Given the description of an element on the screen output the (x, y) to click on. 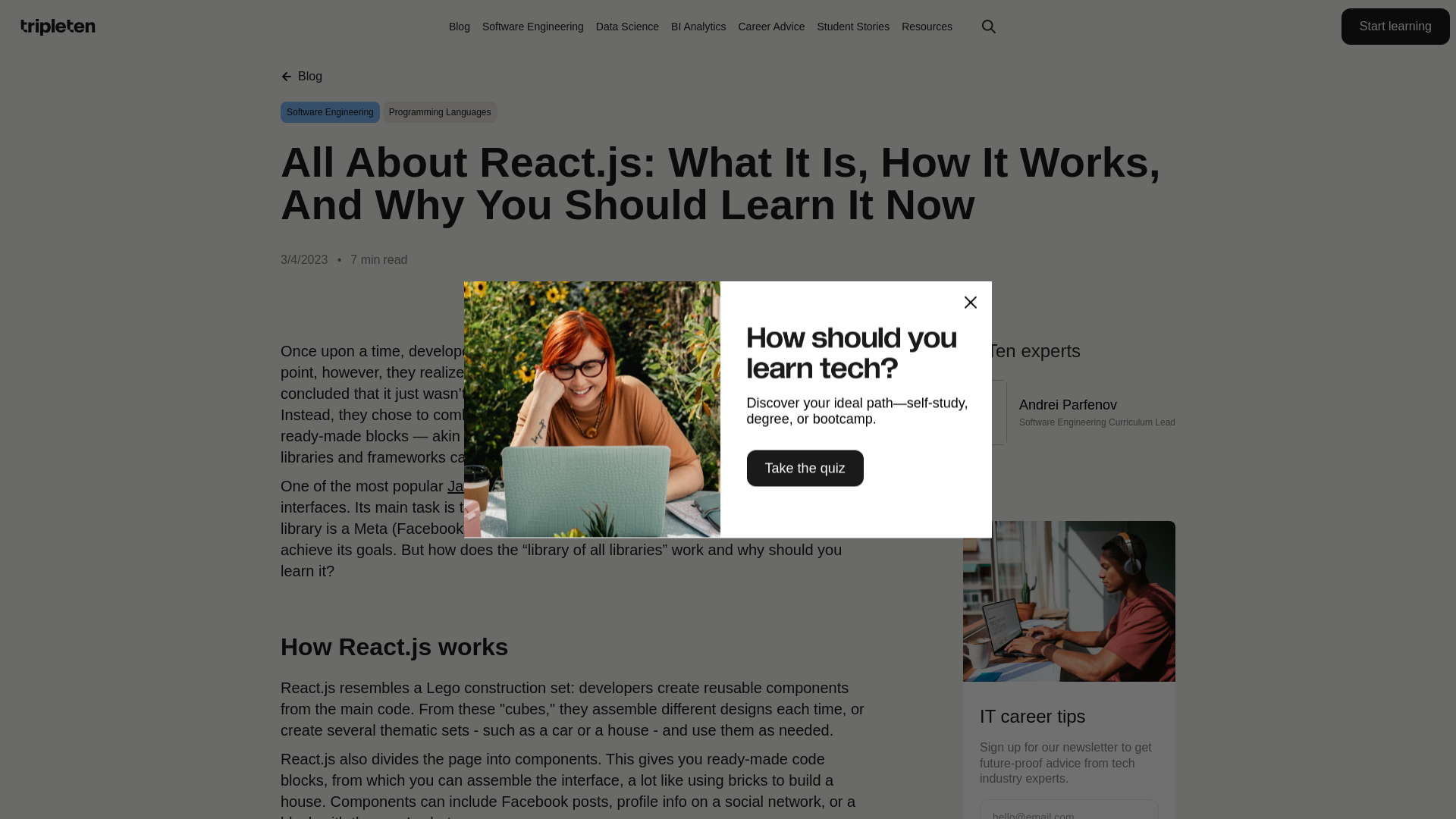
Data Science (627, 26)
Start learning (1395, 25)
Blog (459, 26)
Blog (301, 76)
Resources (926, 26)
BI Analytics (698, 26)
Career Advice (771, 26)
Software Engineering (532, 26)
JavaScript (482, 485)
Student Stories (852, 26)
